Given the description of an element on the screen output the (x, y) to click on. 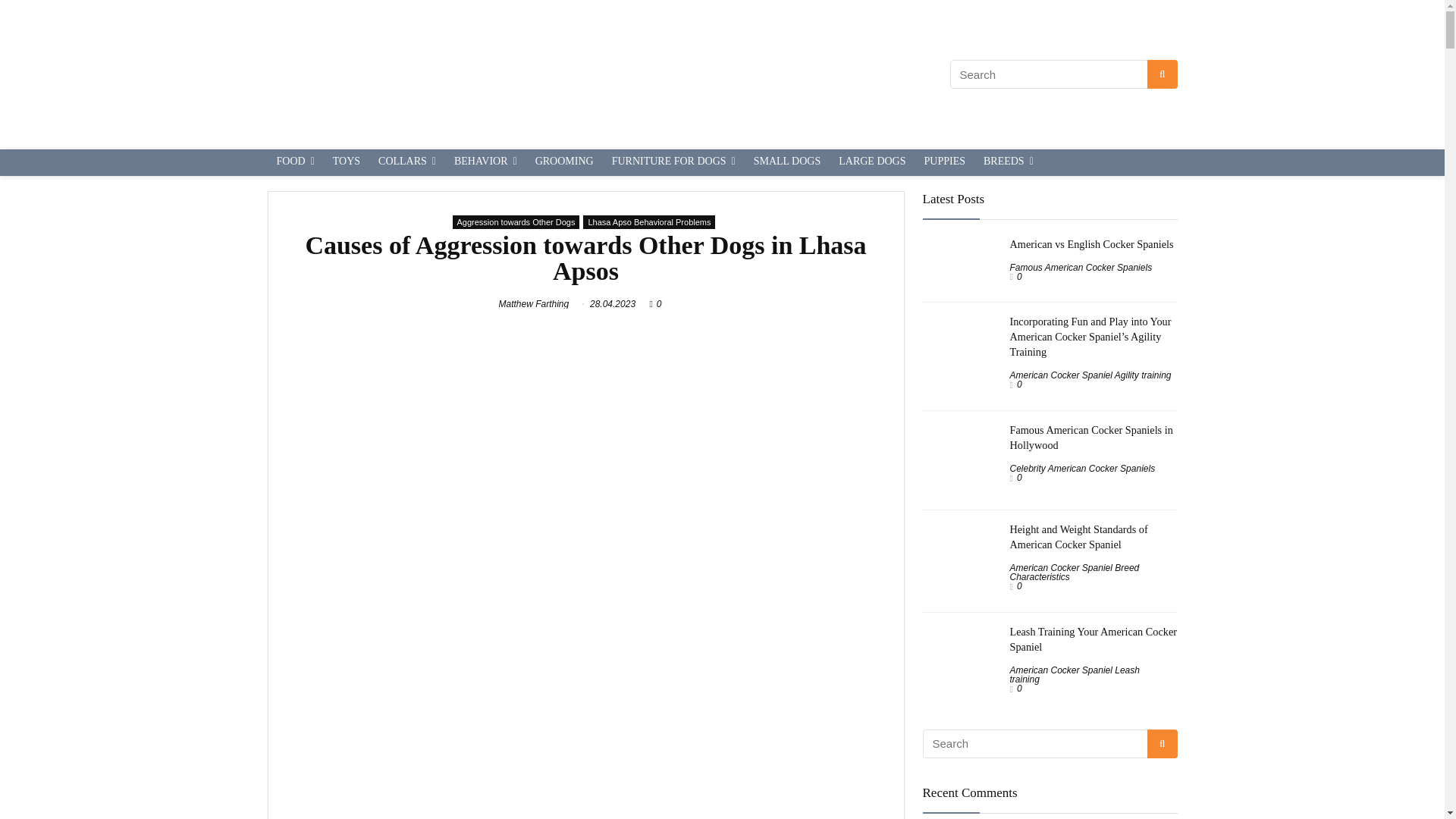
Lhasa Apso Behavioral Problems (648, 222)
GROOMING (563, 162)
COLLARS (407, 162)
View all posts in Aggression towards Other Dogs (515, 222)
LARGE DOGS (871, 162)
View all posts in Lhasa Apso Behavioral Problems (648, 222)
Matthew Farthing (534, 303)
TOYS (346, 162)
FOOD (294, 162)
Aggression towards Other Dogs (515, 222)
